Given the description of an element on the screen output the (x, y) to click on. 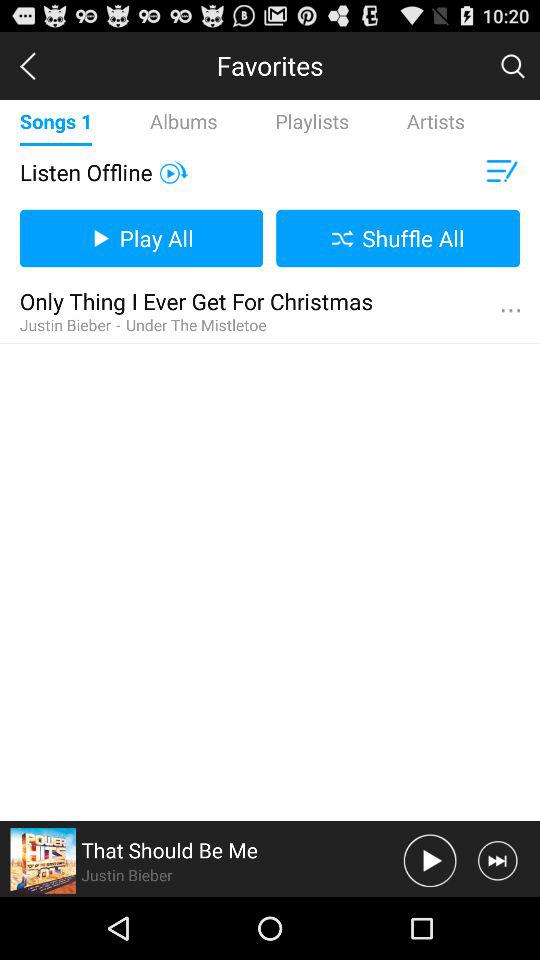
skip song (497, 860)
